Given the description of an element on the screen output the (x, y) to click on. 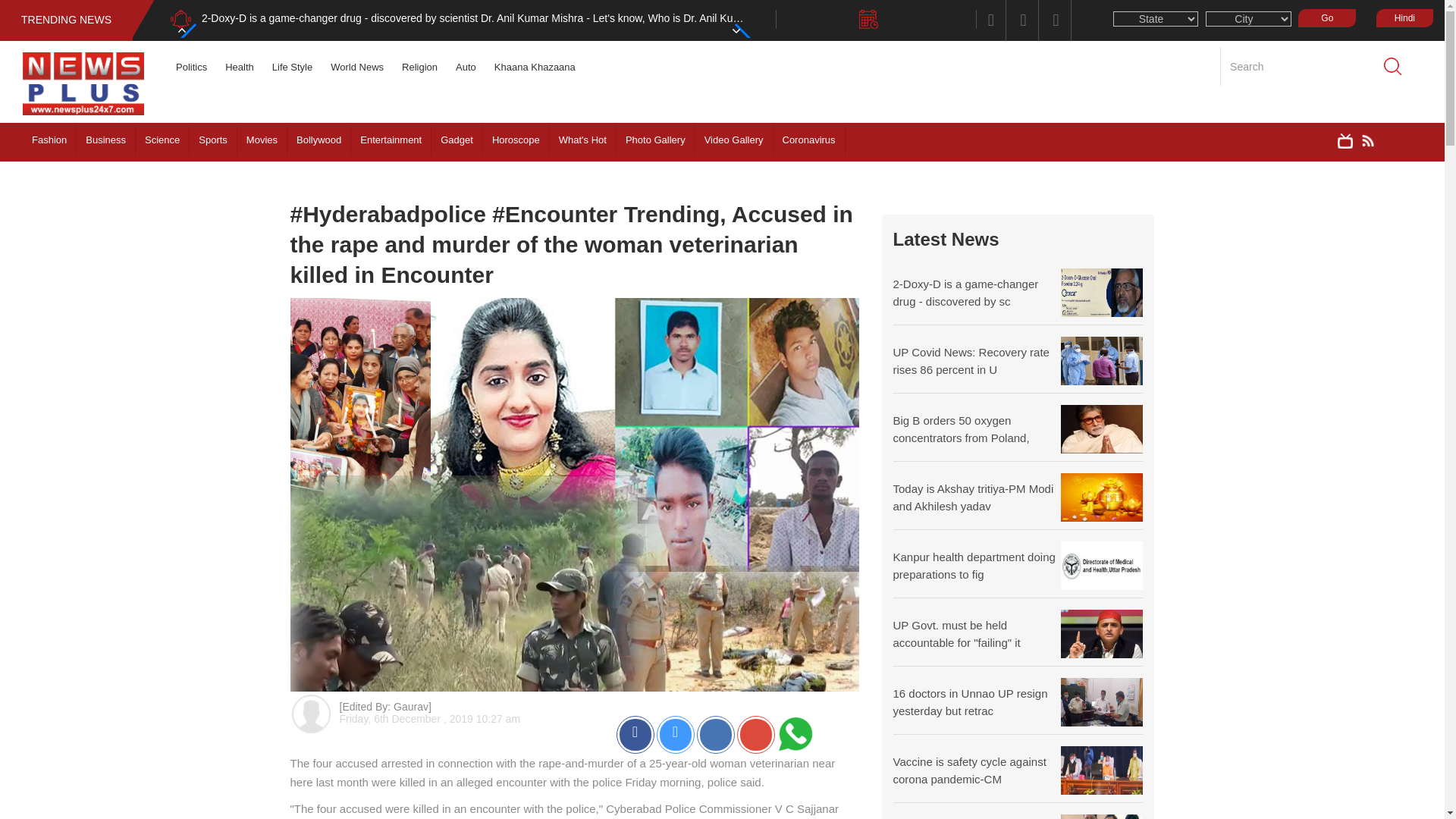
Go (1326, 18)
Hindi (1400, 17)
Health (239, 67)
Politics (191, 67)
Hindi (1403, 18)
